Given the description of an element on the screen output the (x, y) to click on. 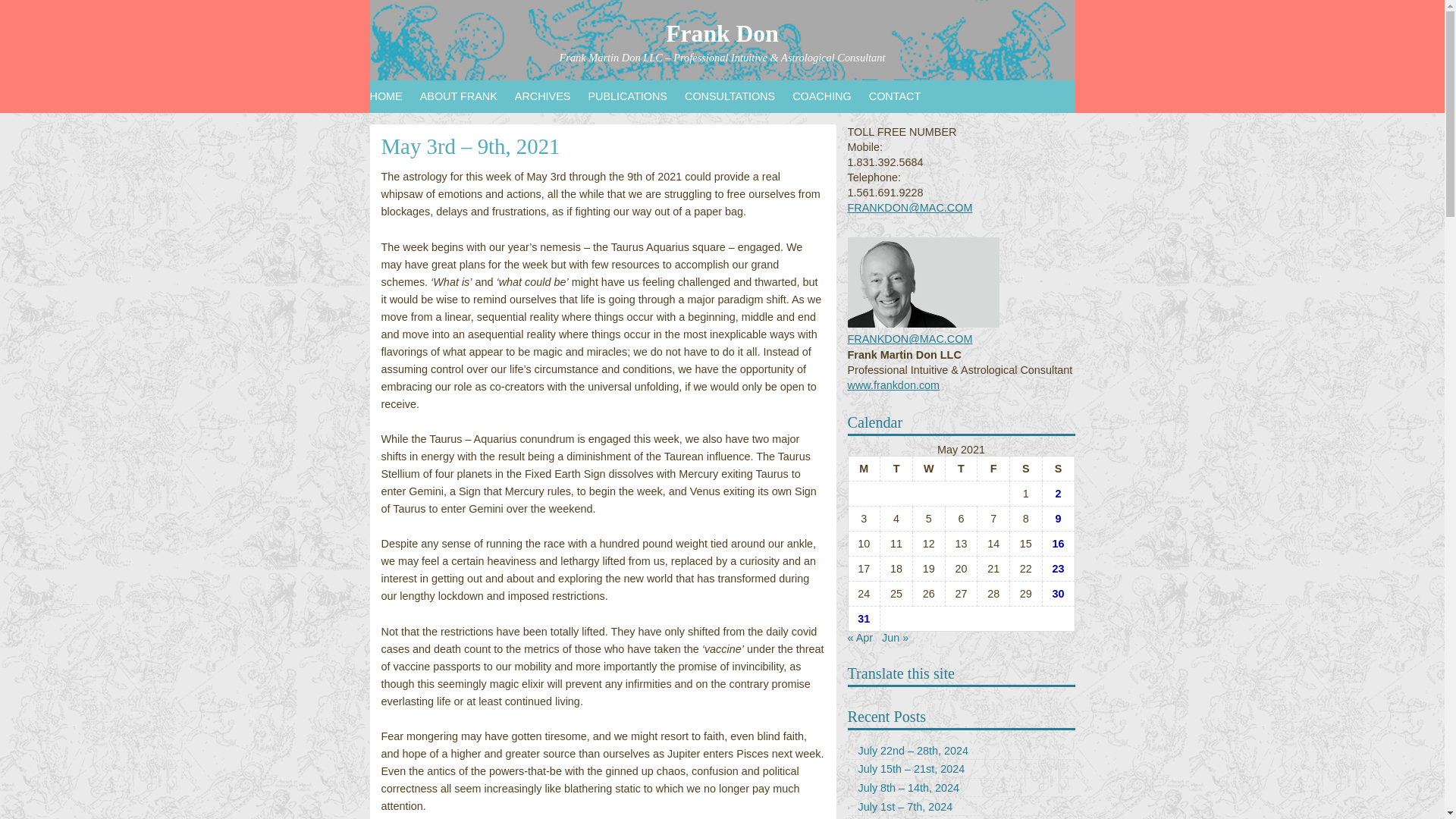
Monday (863, 468)
Wednesday (928, 468)
Frank Don (721, 33)
Sunday (1058, 468)
CONSULTATIONS (738, 96)
CONTACT (904, 96)
HOME (394, 96)
COACHING (830, 96)
31 (863, 618)
www.frankdon.com (893, 385)
Friday (993, 468)
Saturday (1026, 468)
30 (1058, 593)
PUBLICATIONS (636, 96)
16 (1058, 543)
